Given the description of an element on the screen output the (x, y) to click on. 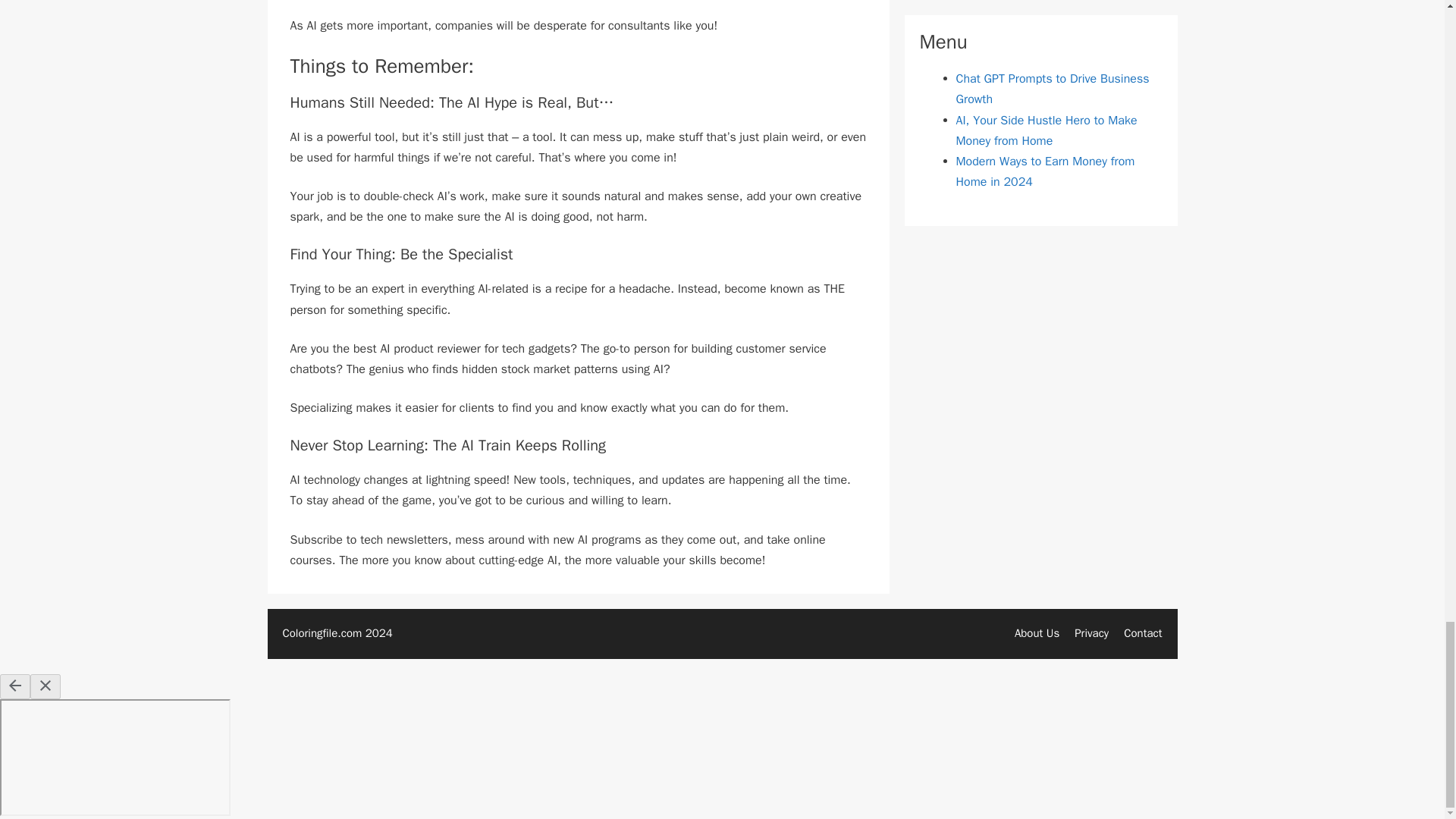
Privacy (1091, 632)
About Us (1036, 632)
Contact (1142, 632)
